Given the description of an element on the screen output the (x, y) to click on. 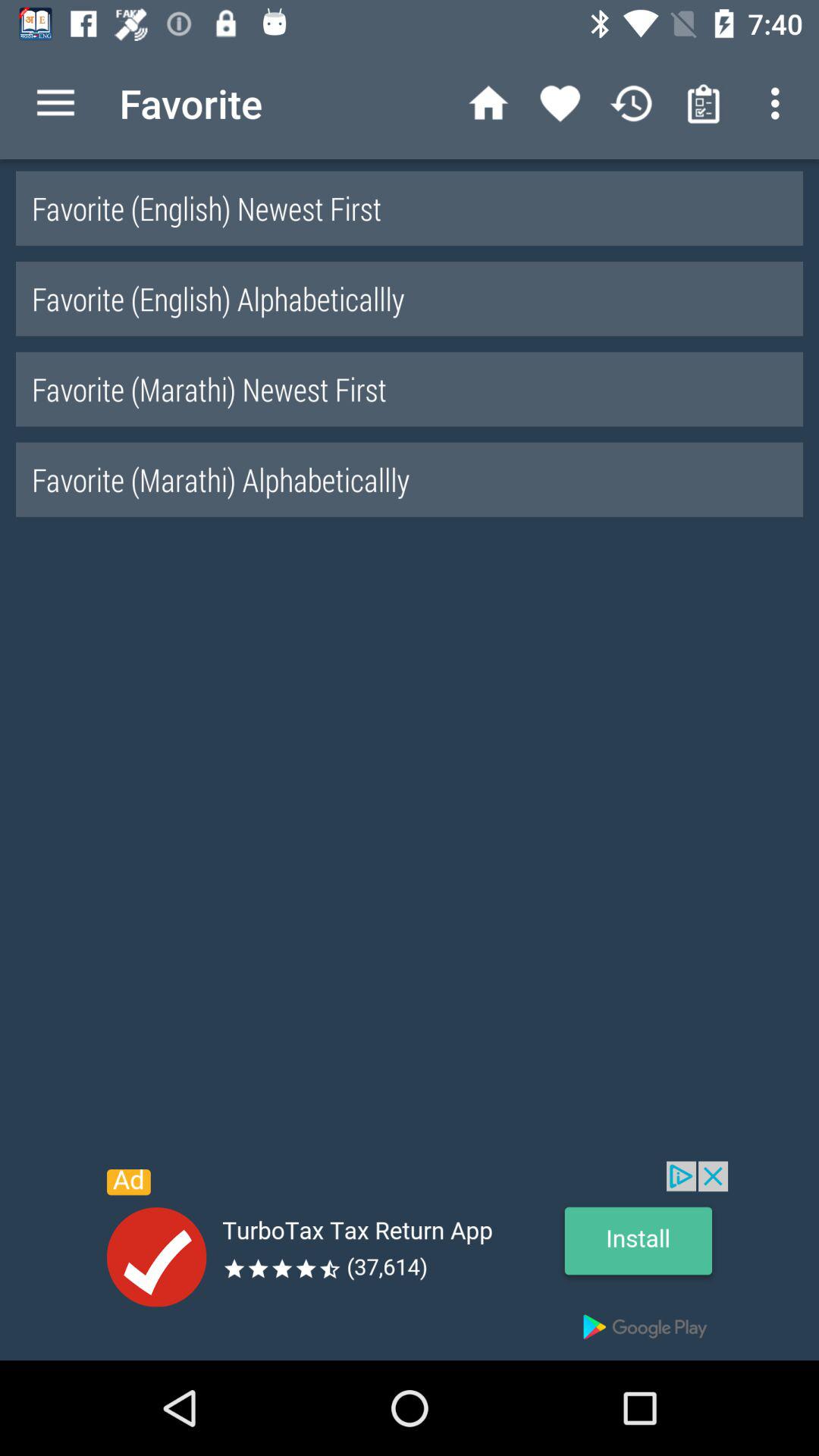
open advertisement (409, 1260)
